Given the description of an element on the screen output the (x, y) to click on. 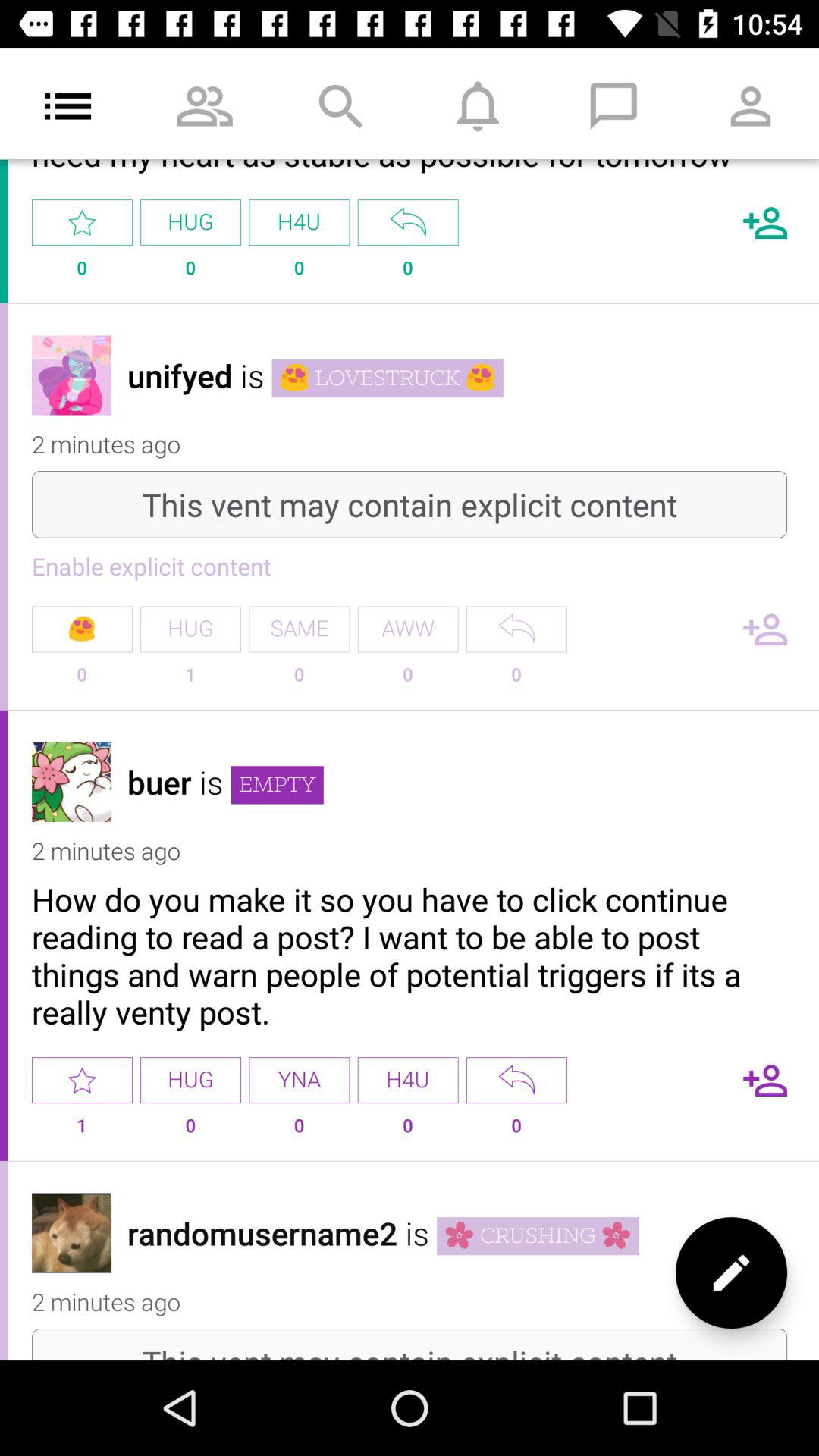
open the item to the left of h4u (299, 1080)
